Given the description of an element on the screen output the (x, y) to click on. 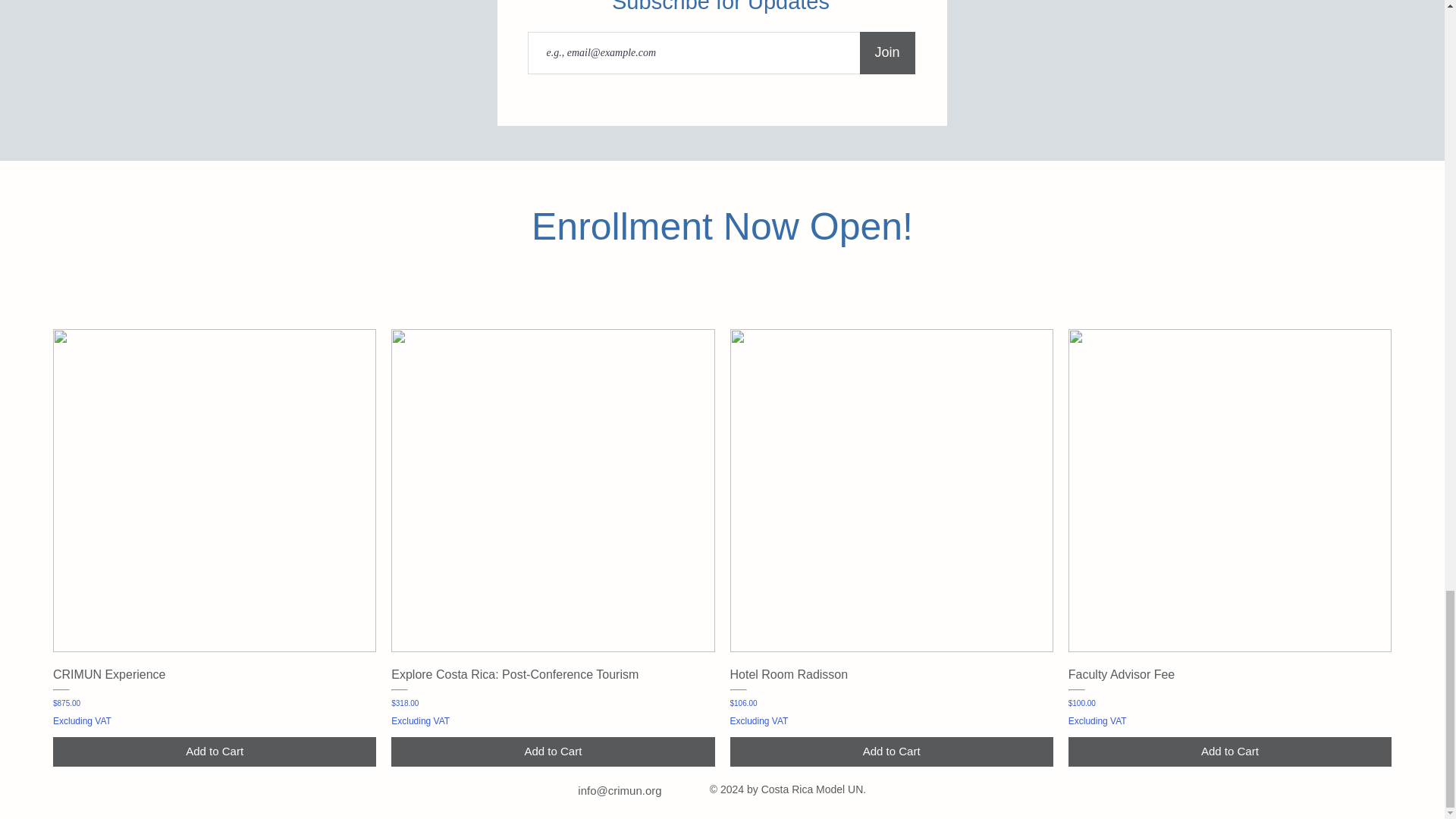
Add to Cart (1229, 751)
Add to Cart (890, 751)
Join (887, 52)
Add to Cart (213, 751)
Add to Cart (552, 751)
